Given the description of an element on the screen output the (x, y) to click on. 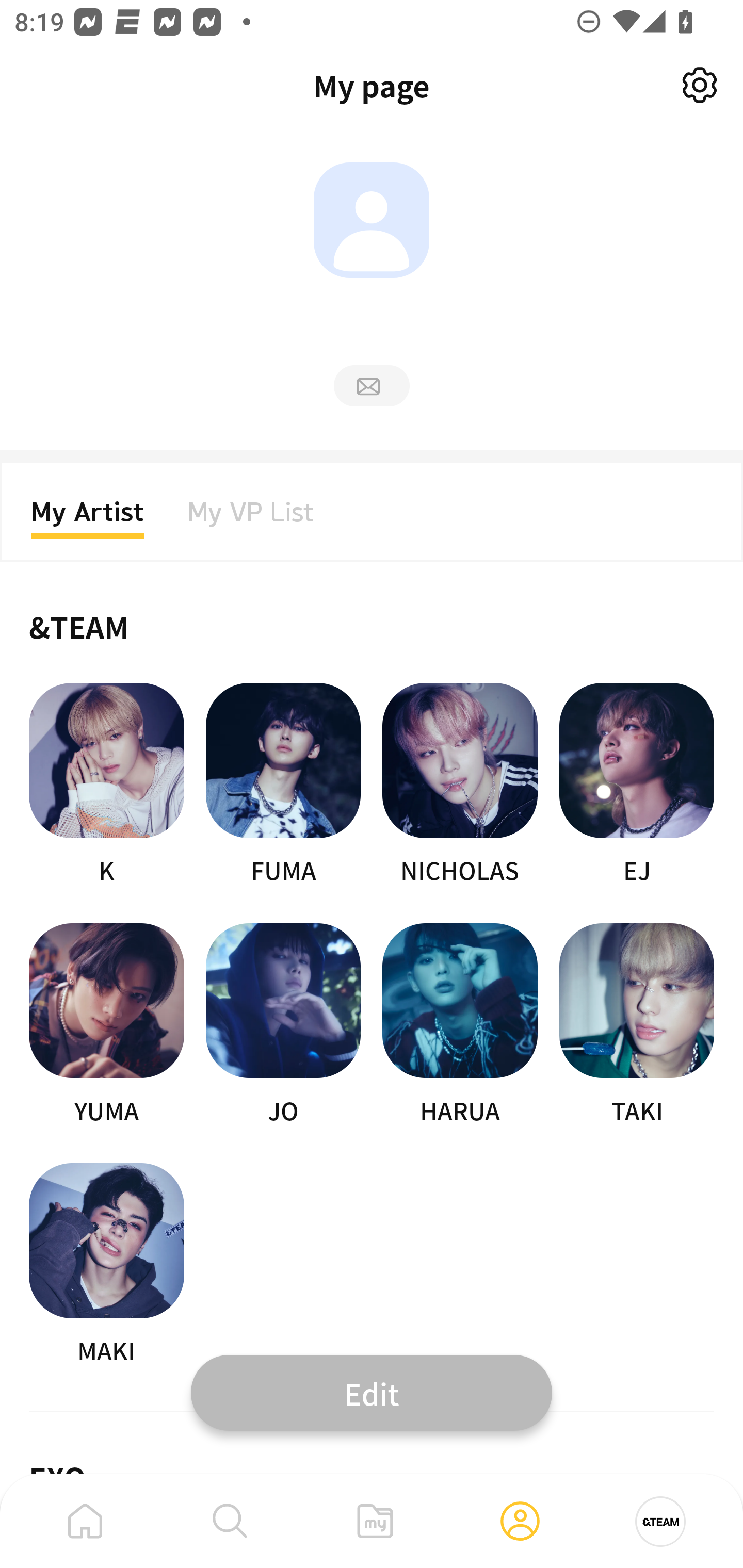
My Artist (87, 517)
My VP List (250, 517)
K (106, 785)
FUMA (282, 785)
NICHOLAS (459, 785)
EJ (636, 785)
YUMA (106, 1025)
JO (282, 1025)
HARUA (459, 1025)
TAKI (636, 1025)
MAKI (106, 1265)
Edit (371, 1392)
